Given the description of an element on the screen output the (x, y) to click on. 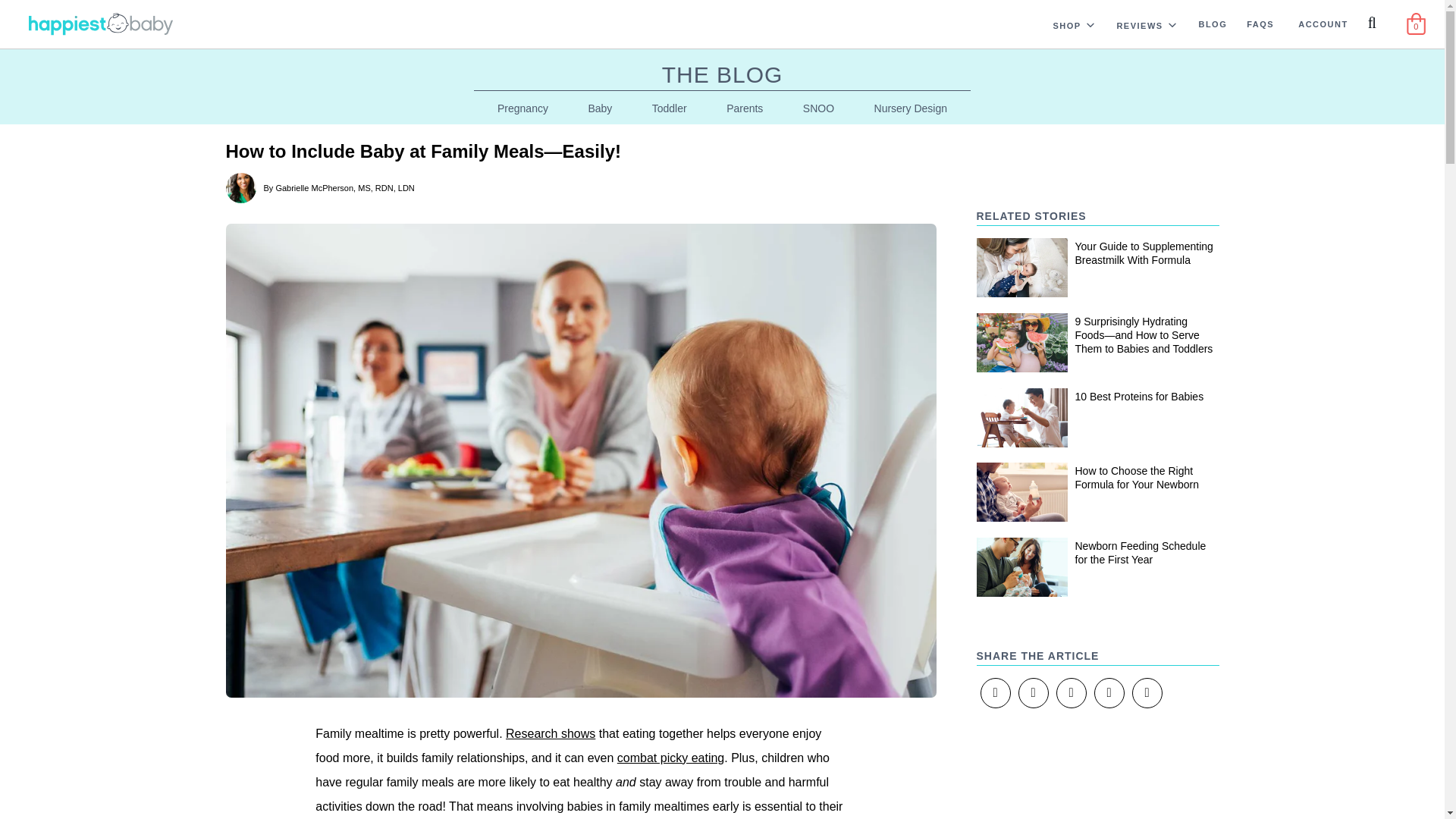
Expandable Navigation (1172, 24)
Research shows (550, 733)
FAQS (1260, 22)
ACCOUNT (1322, 22)
Expandable Navigation (1090, 24)
combat picky eating (670, 757)
BLOG (1212, 22)
REVIEWS (1134, 24)
